Given the description of an element on the screen output the (x, y) to click on. 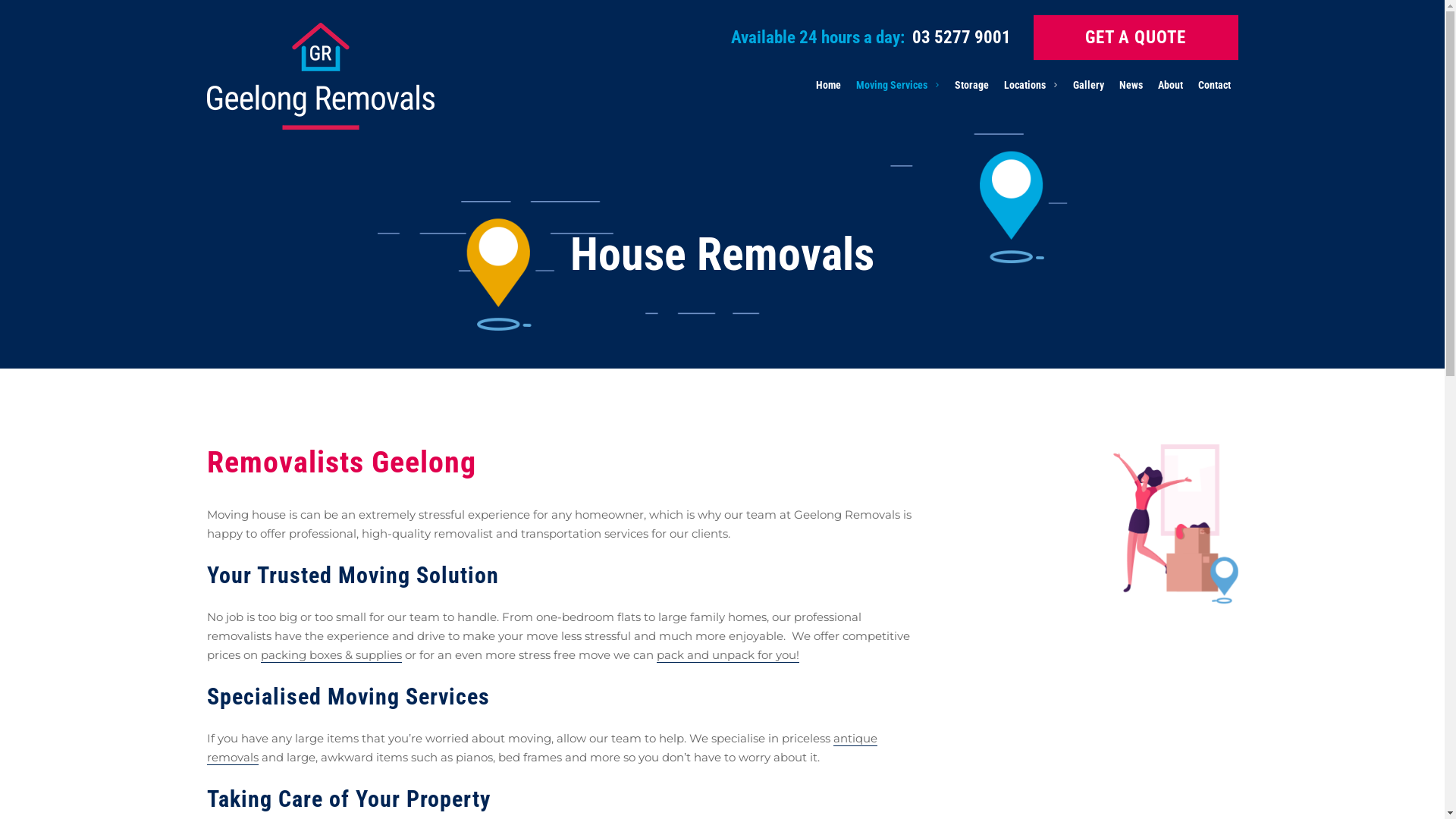
antique removals Element type: text (541, 748)
News Element type: text (1130, 84)
Gallery Element type: text (1087, 84)
Home Element type: text (828, 84)
03 5277 9001 Element type: text (960, 37)
packing boxes & supplies Element type: text (330, 654)
GET A QUOTE Element type: text (1134, 37)
pack and unpack for you! Element type: text (727, 654)
Storage Element type: text (970, 84)
Contact Element type: text (1214, 84)
Moving Services Element type: text (896, 84)
Locations Element type: text (1030, 84)
About Element type: text (1169, 84)
